Given the description of an element on the screen output the (x, y) to click on. 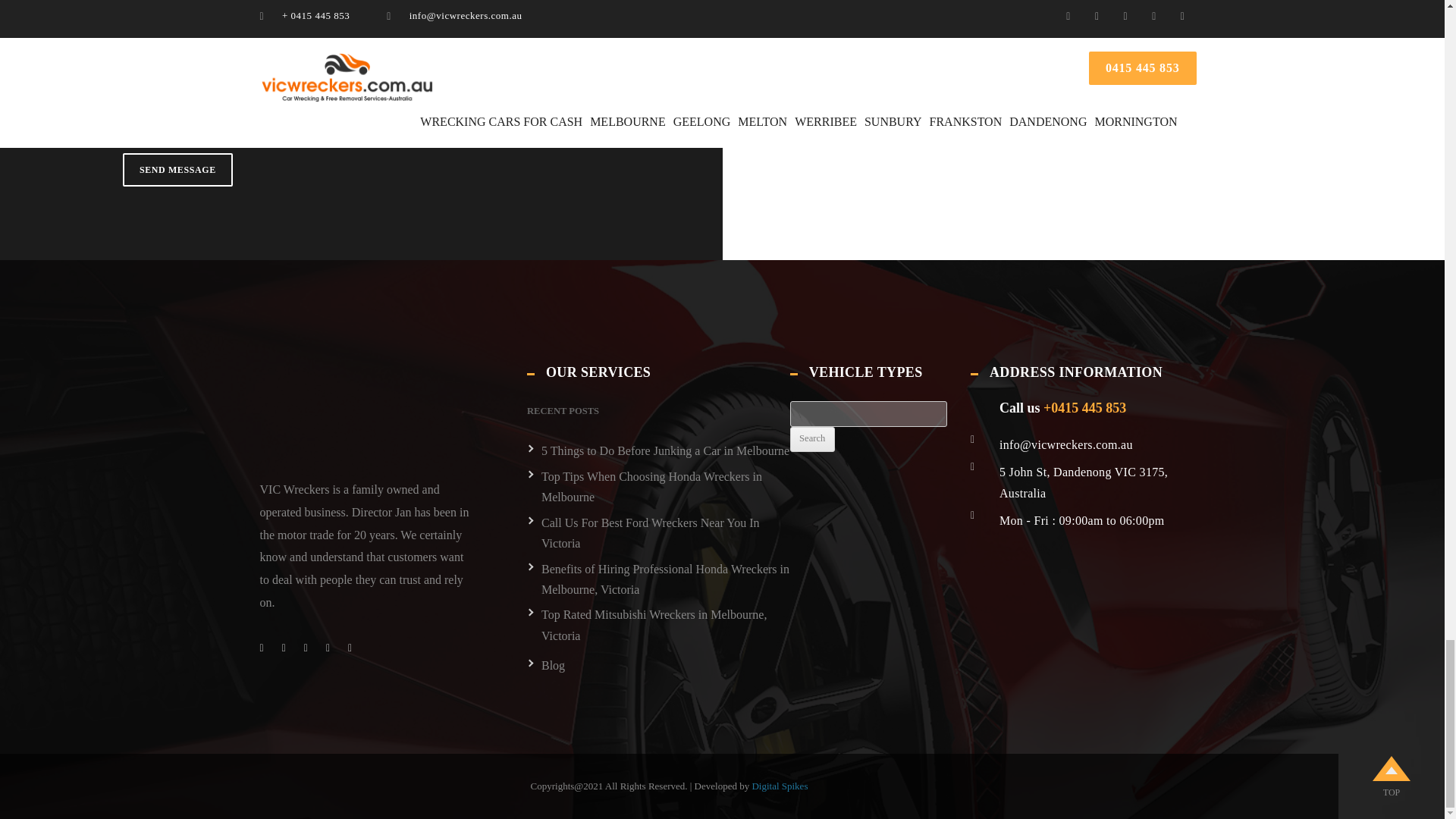
Search (812, 439)
Send Message (177, 169)
